Given the description of an element on the screen output the (x, y) to click on. 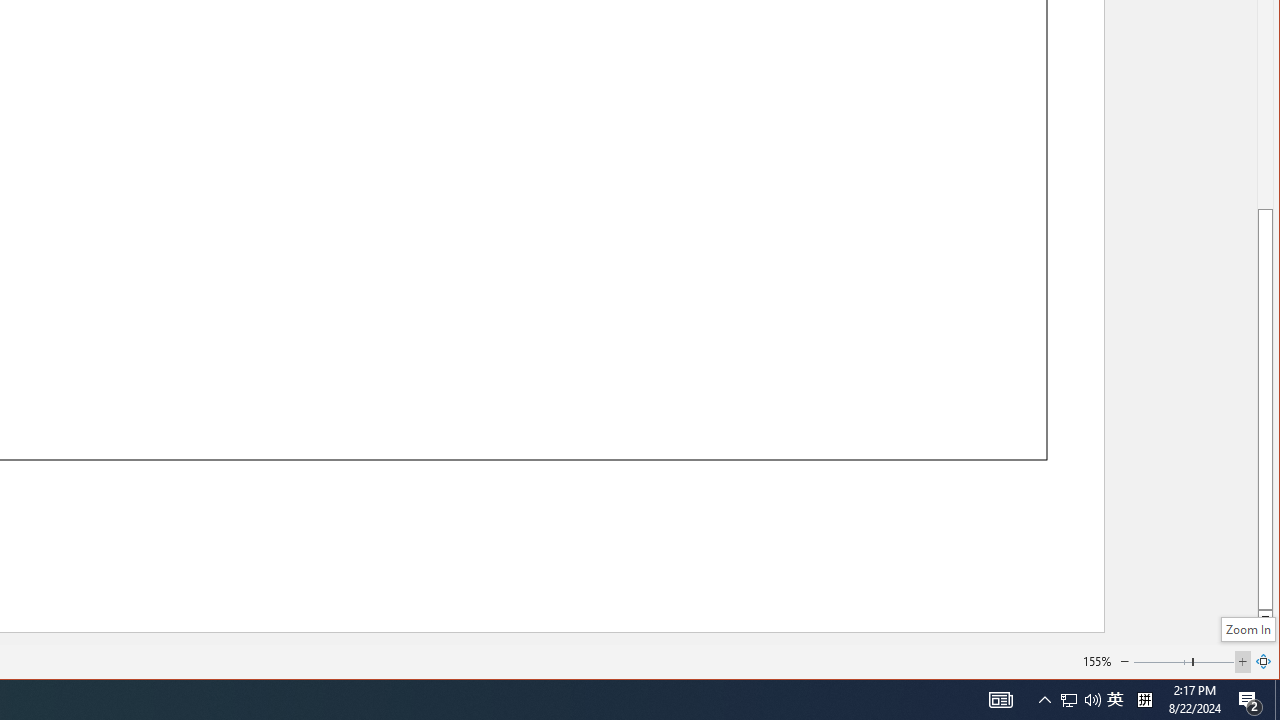
Zoom to Page (1263, 661)
Page left (1162, 661)
Page right (1214, 661)
